Given the description of an element on the screen output the (x, y) to click on. 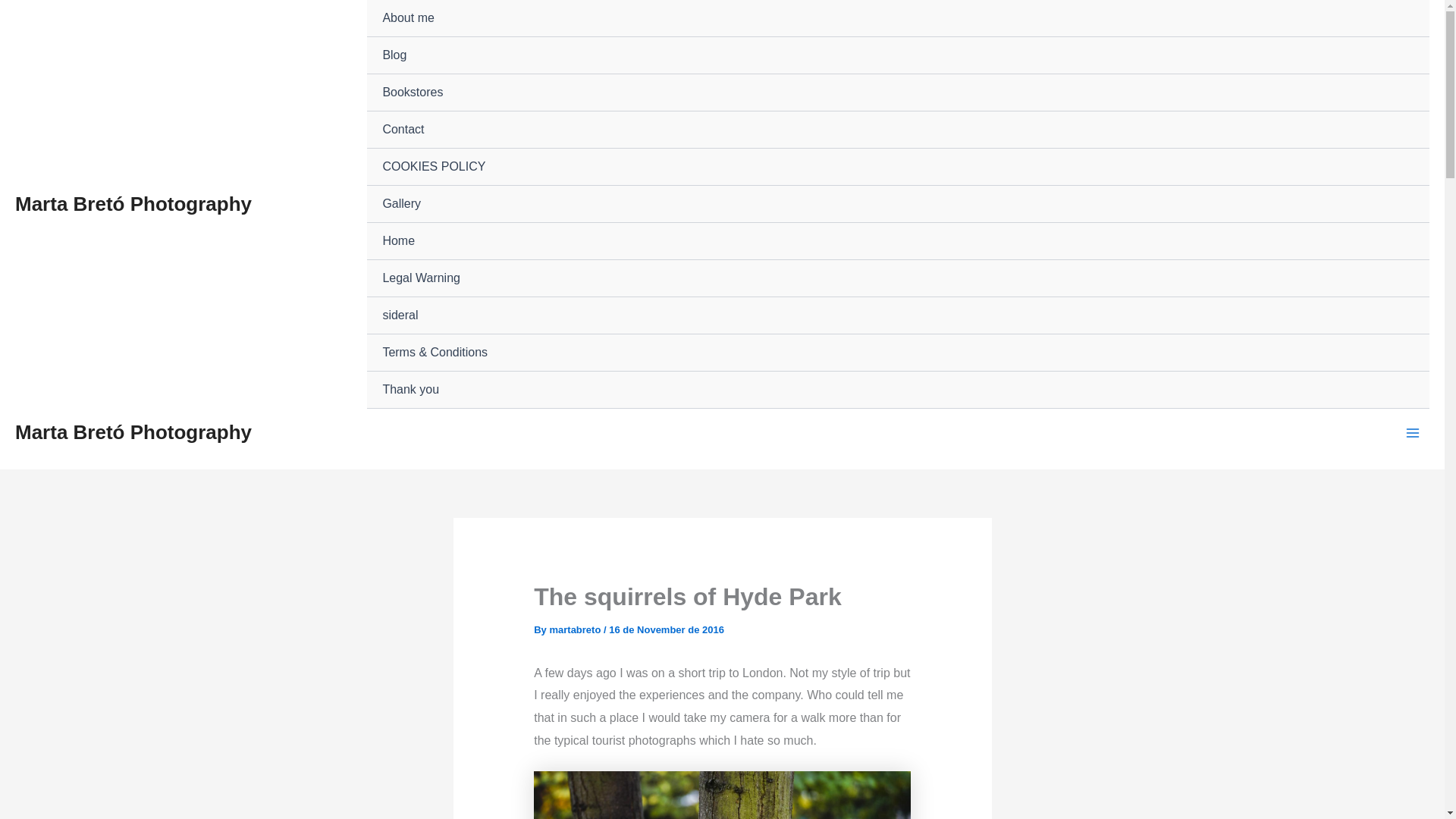
Blog (897, 55)
Home (897, 241)
Legal Warning (897, 278)
sideral (897, 315)
View all posts by martabreto (576, 629)
Main Menu (1412, 432)
Thank you (897, 389)
COOKIES POLICY (897, 166)
Gallery (897, 203)
Contact (897, 129)
Bookstores (897, 92)
About me (897, 18)
martabreto (576, 629)
